Given the description of an element on the screen output the (x, y) to click on. 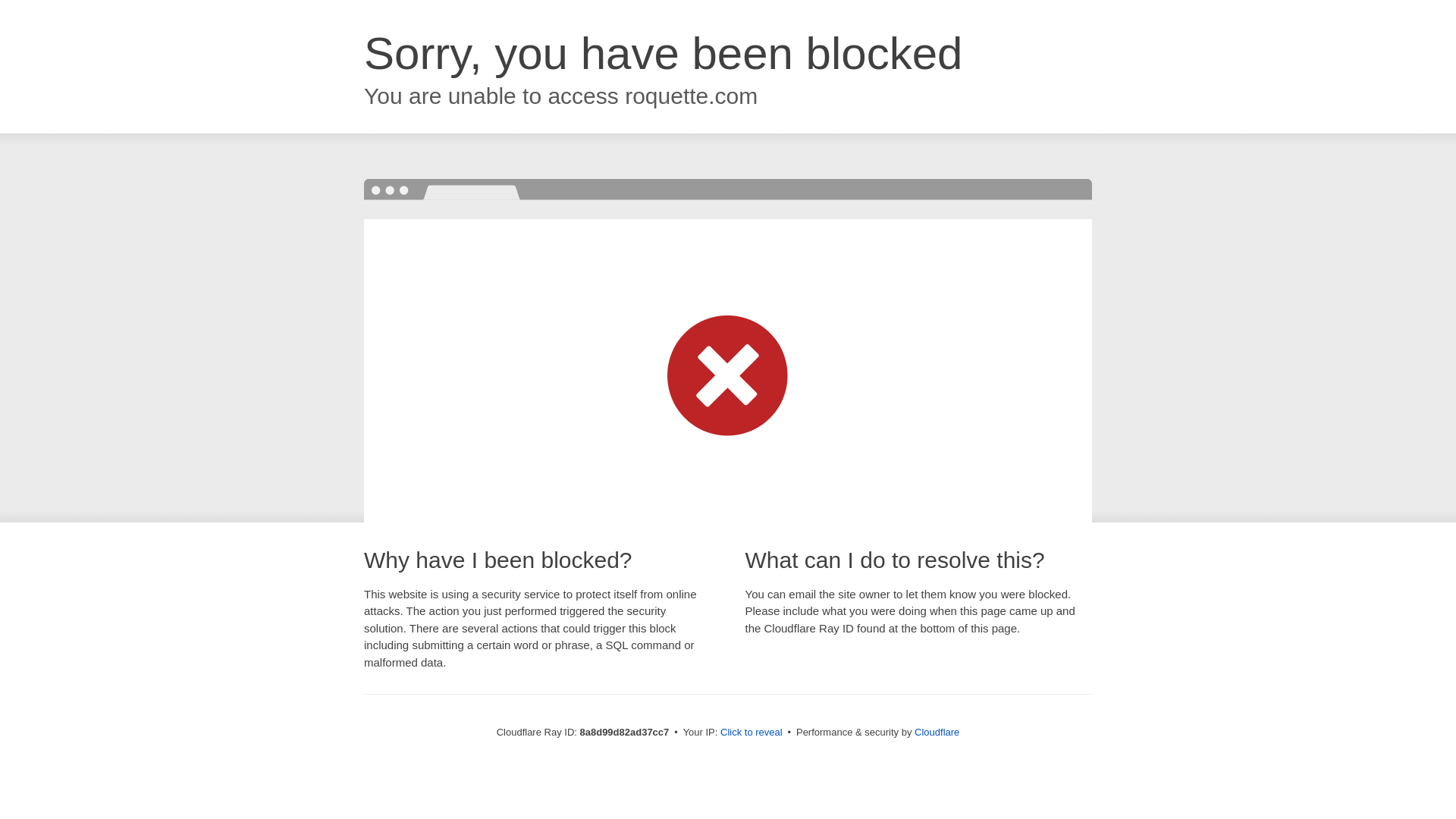
Click to reveal (751, 732)
Cloudflare (936, 731)
